Given the description of an element on the screen output the (x, y) to click on. 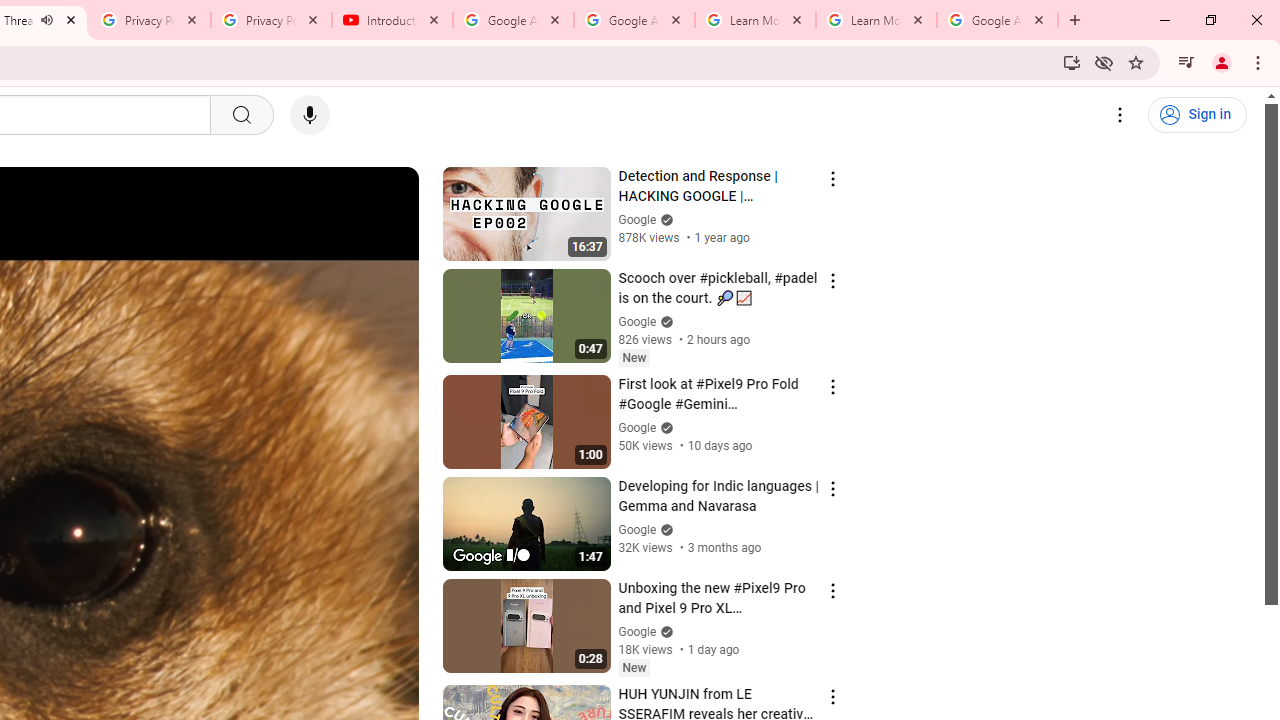
New (634, 667)
Google Account (997, 20)
